Given the description of an element on the screen output the (x, y) to click on. 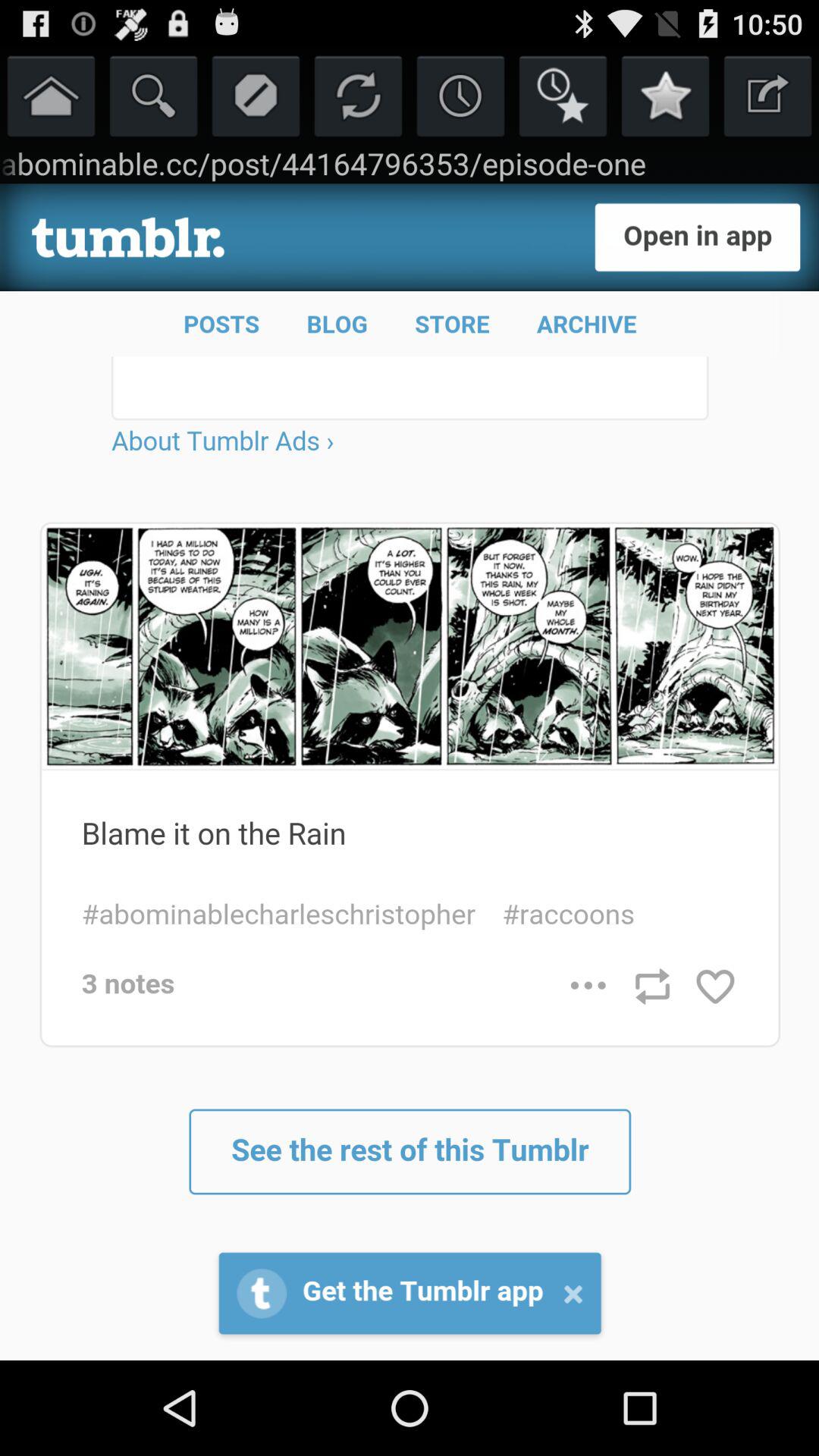
search tumblr (153, 95)
